Given the description of an element on the screen output the (x, y) to click on. 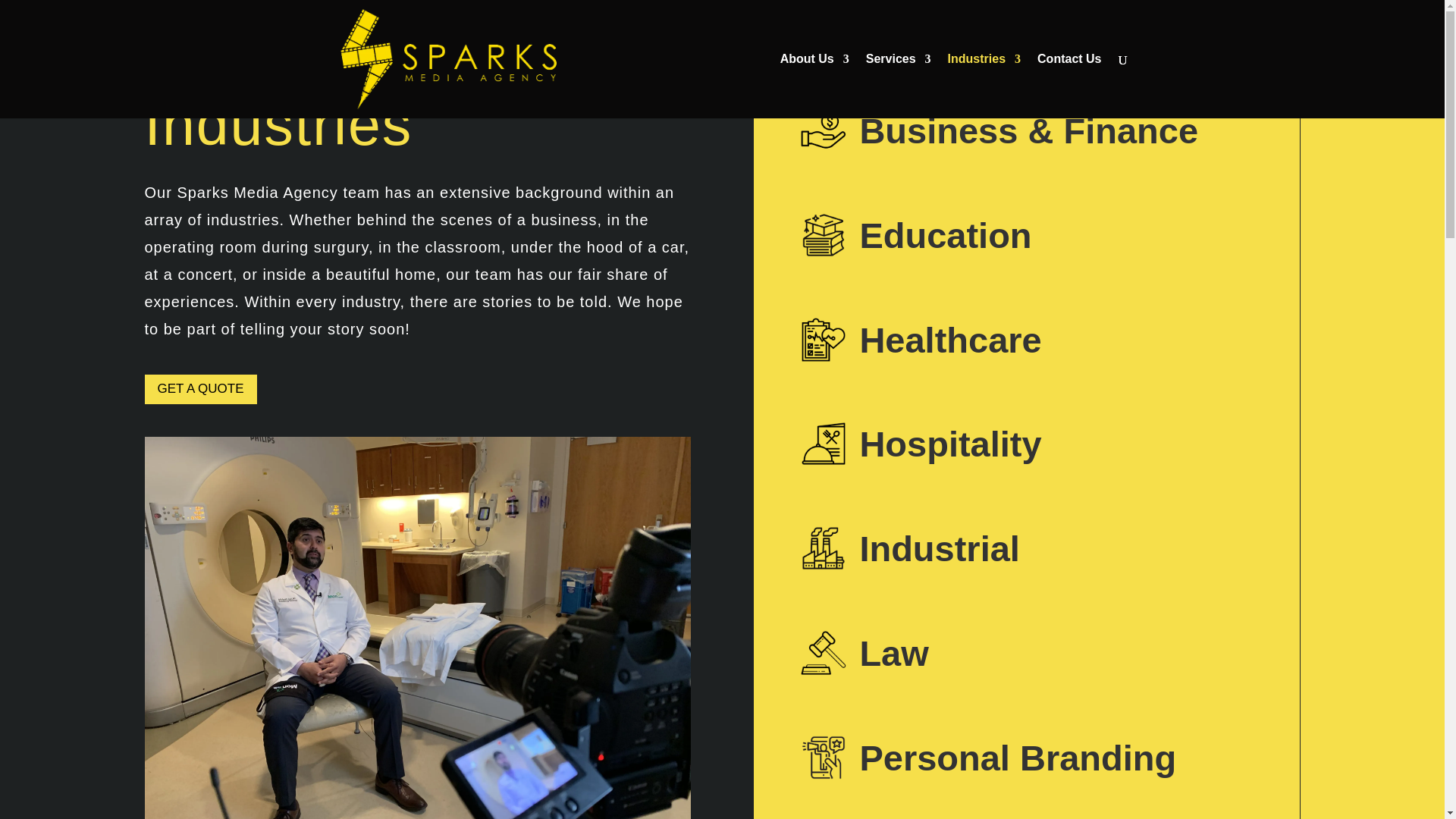
Services (898, 85)
Contact Us (1068, 85)
Industries (983, 85)
About Us (814, 85)
